Given the description of an element on the screen output the (x, y) to click on. 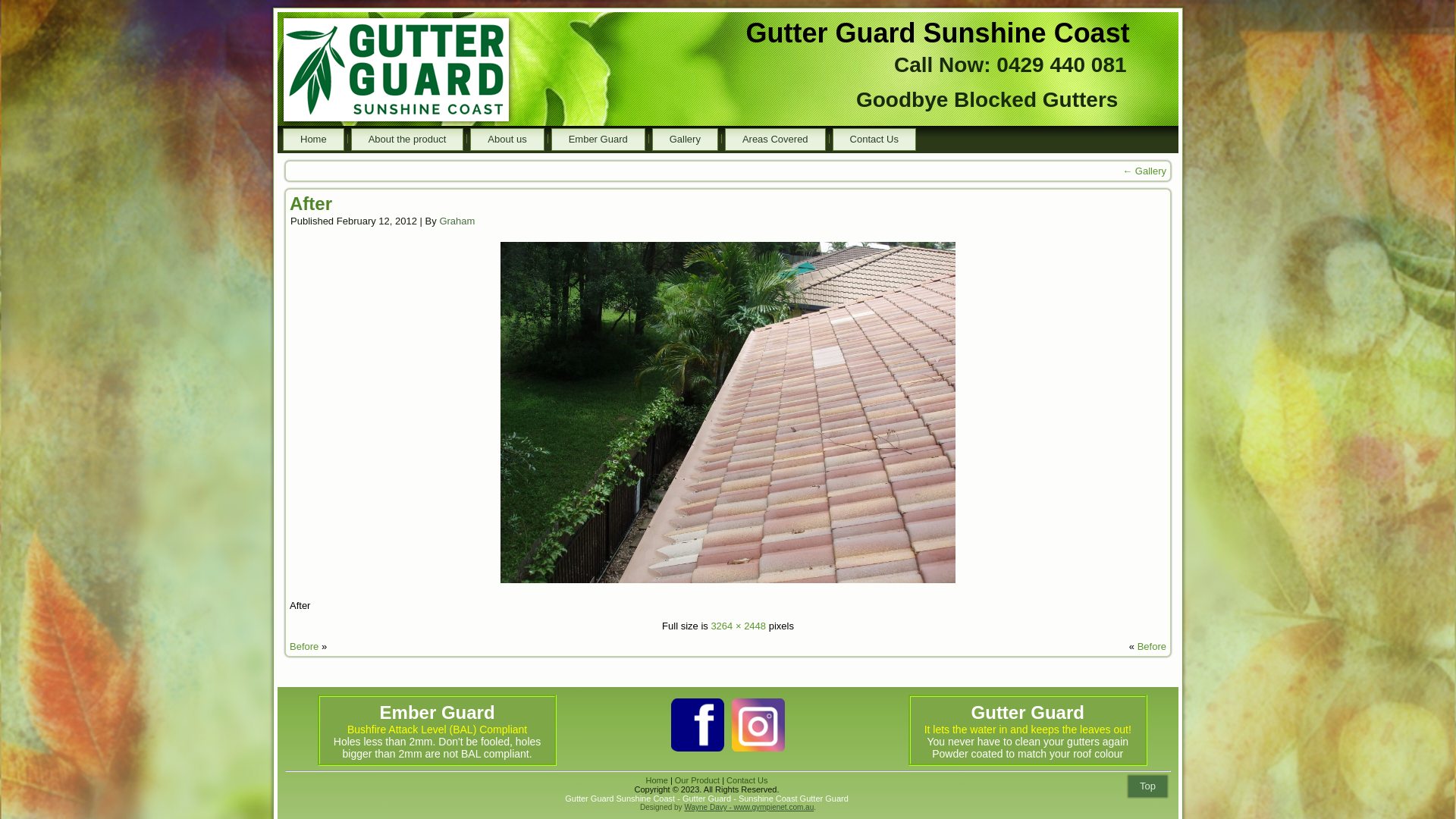
Wayne Davy - www.gympienet.com.au Element type: text (748, 807)
About the product Element type: text (407, 139)
Home Element type: text (656, 779)
After Element type: hover (727, 584)
Gallery Element type: text (685, 139)
Before Element type: text (1151, 646)
Our Product Element type: text (696, 779)
Graham Element type: text (456, 220)
After Element type: text (310, 203)
Gutter Guard Sunshine Coast Element type: text (937, 32)
Before Element type: text (303, 646)
Ember Guard Element type: text (598, 139)
About us Element type: text (506, 139)
Home Element type: text (313, 139)
Areas Covered Element type: text (774, 139)
Contact Us Element type: text (874, 139)
Contact Us Element type: text (746, 779)
Call Now: 0429 440 081 Element type: text (1010, 64)
Top Element type: text (1147, 786)
